Given the description of an element on the screen output the (x, y) to click on. 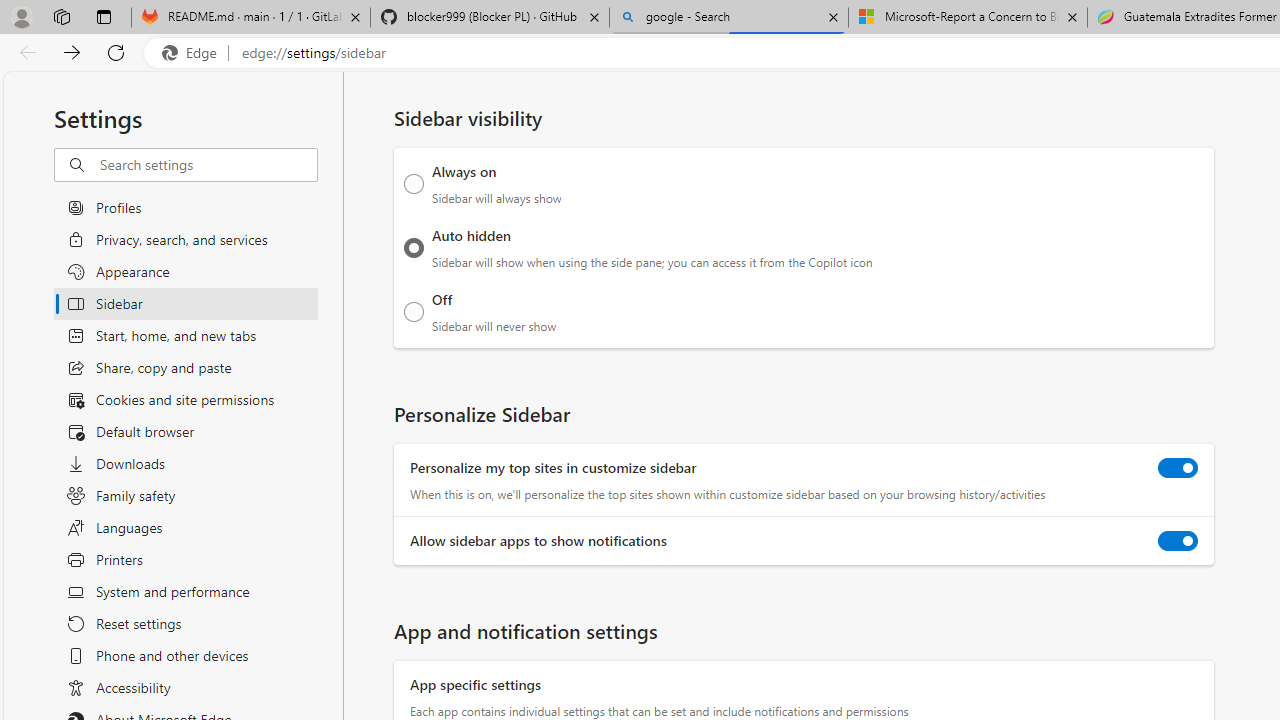
Personalize my top sites in customize sidebar (1178, 467)
